Given the description of an element on the screen output the (x, y) to click on. 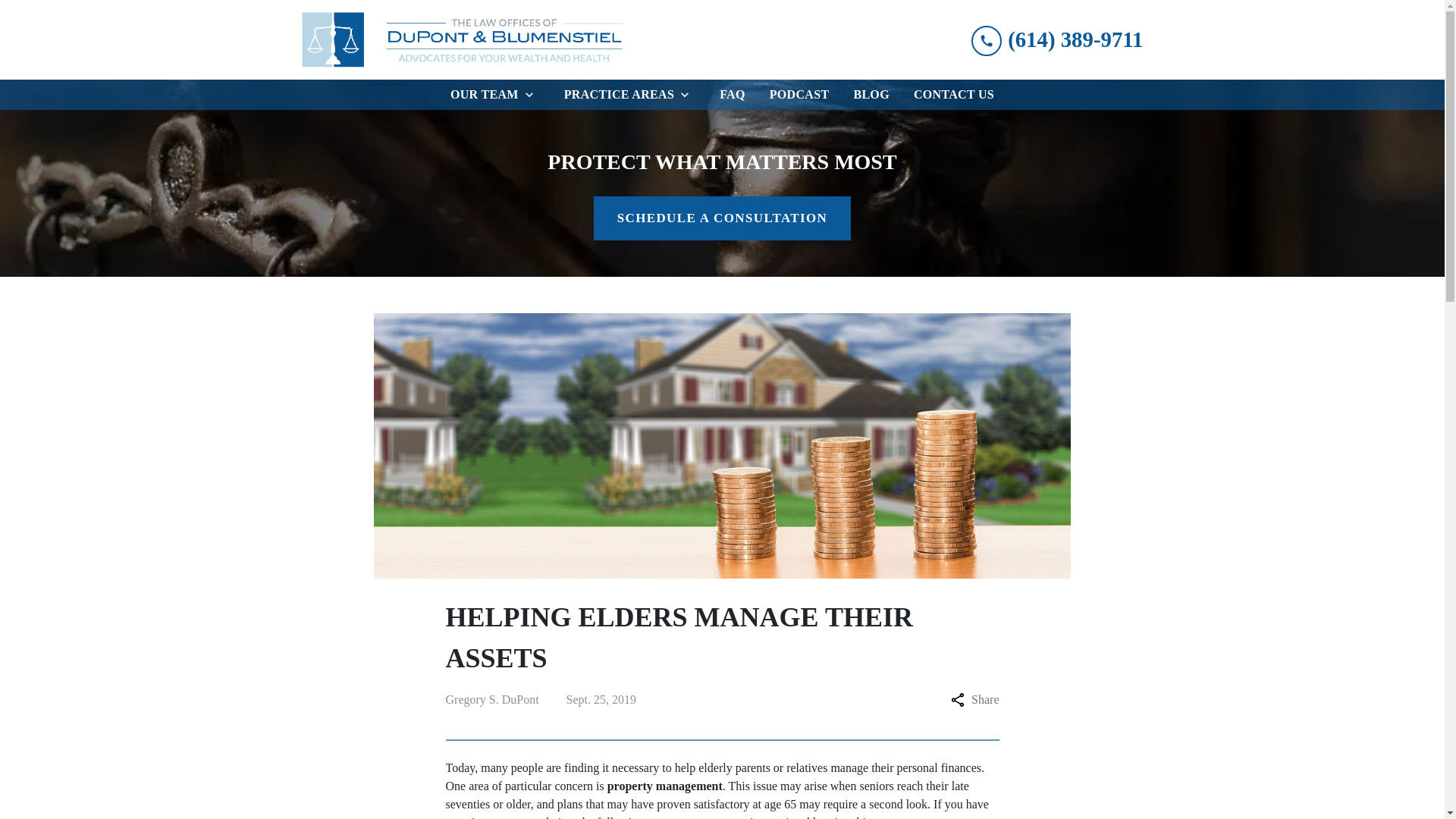
PRACTICE AREAS (615, 94)
OUR TEAM (481, 94)
